Given the description of an element on the screen output the (x, y) to click on. 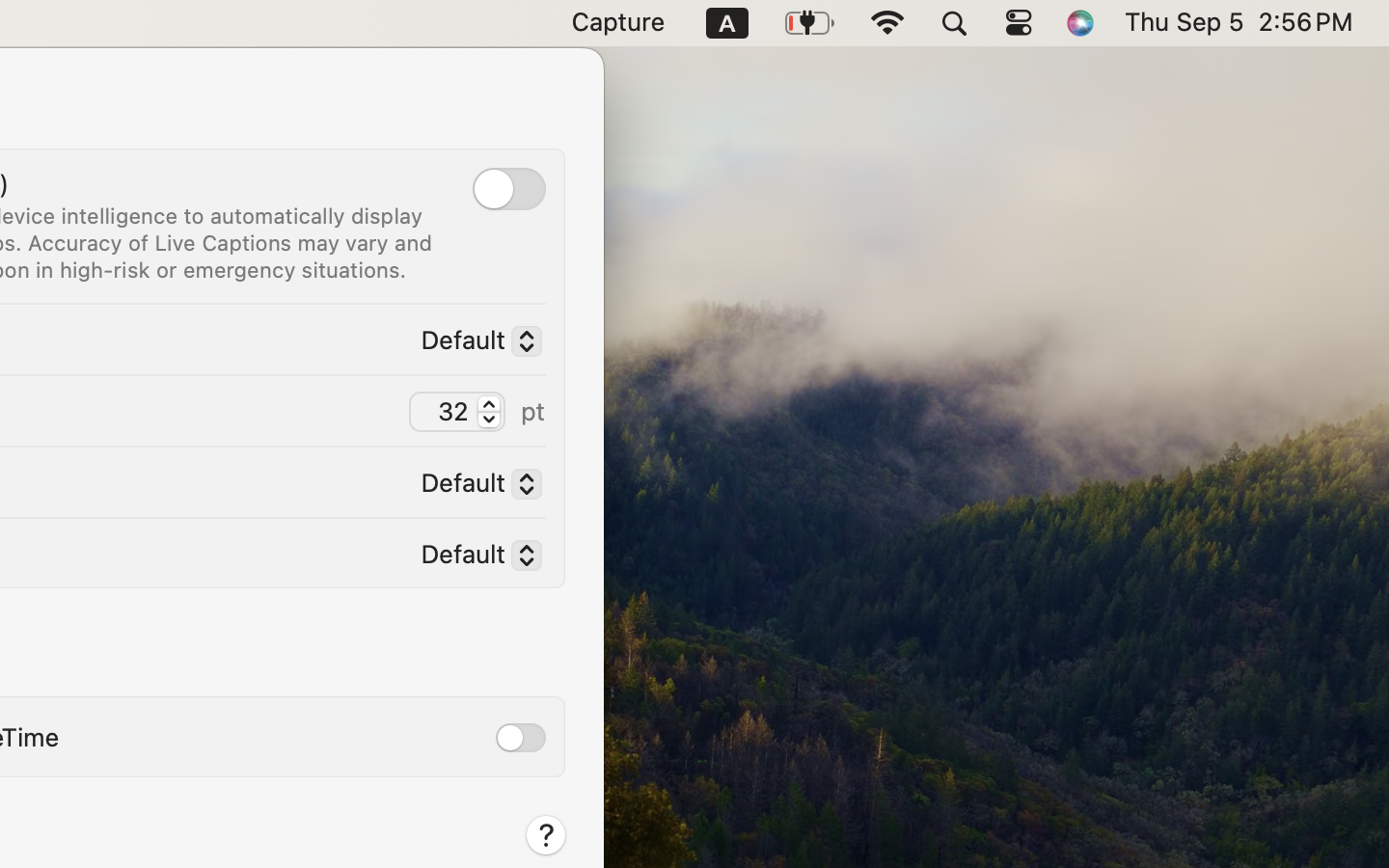
32.0 Element type: AXIncrementor (487, 410)
Default Element type: AXPopUpButton (473, 558)
pt Element type: AXStaticText (532, 410)
32 Element type: AXTextField (456, 411)
